Given the description of an element on the screen output the (x, y) to click on. 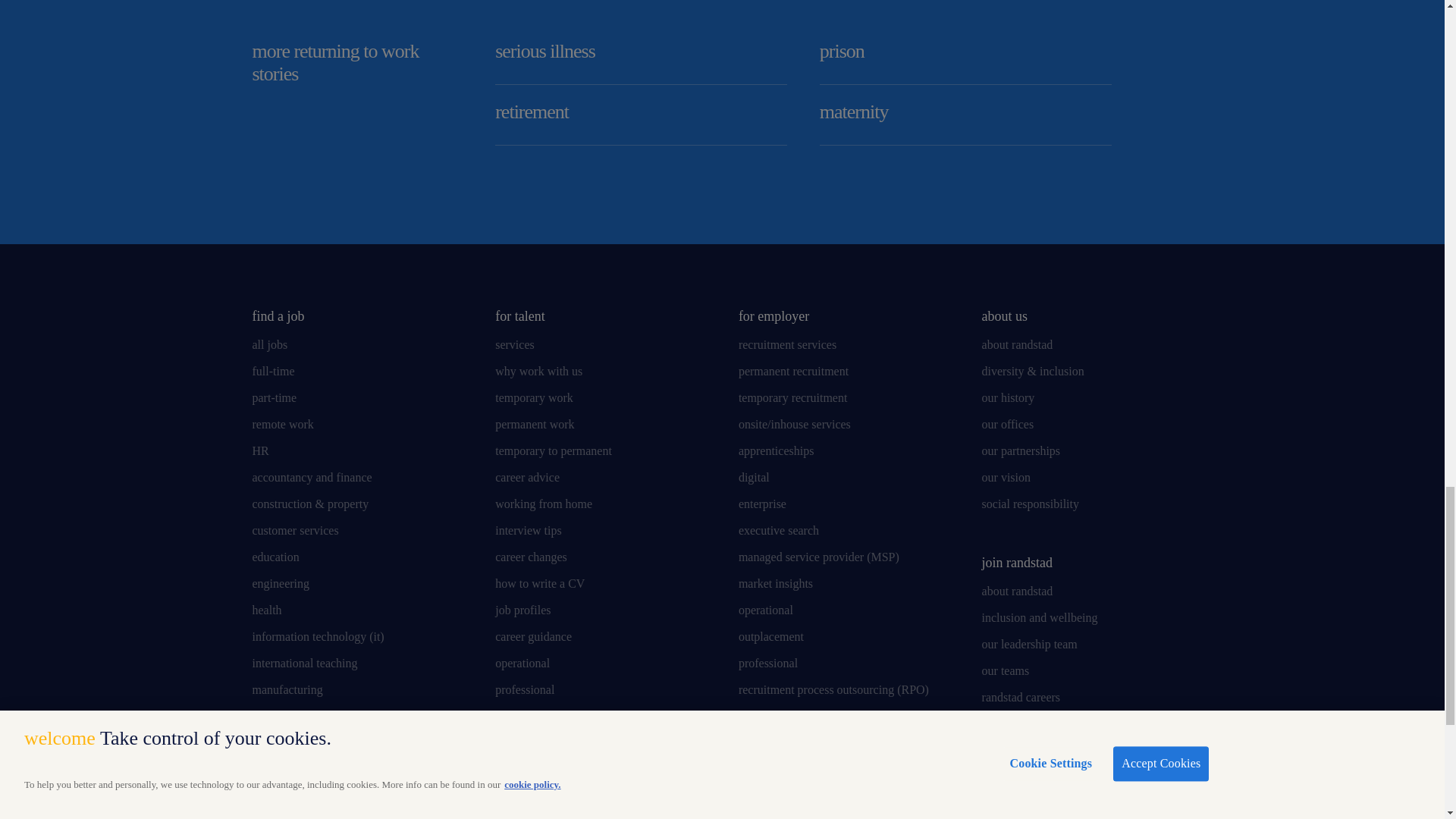
serious illness (641, 54)
maternity  (965, 114)
retirement (641, 114)
prison (965, 54)
